Given the description of an element on the screen output the (x, y) to click on. 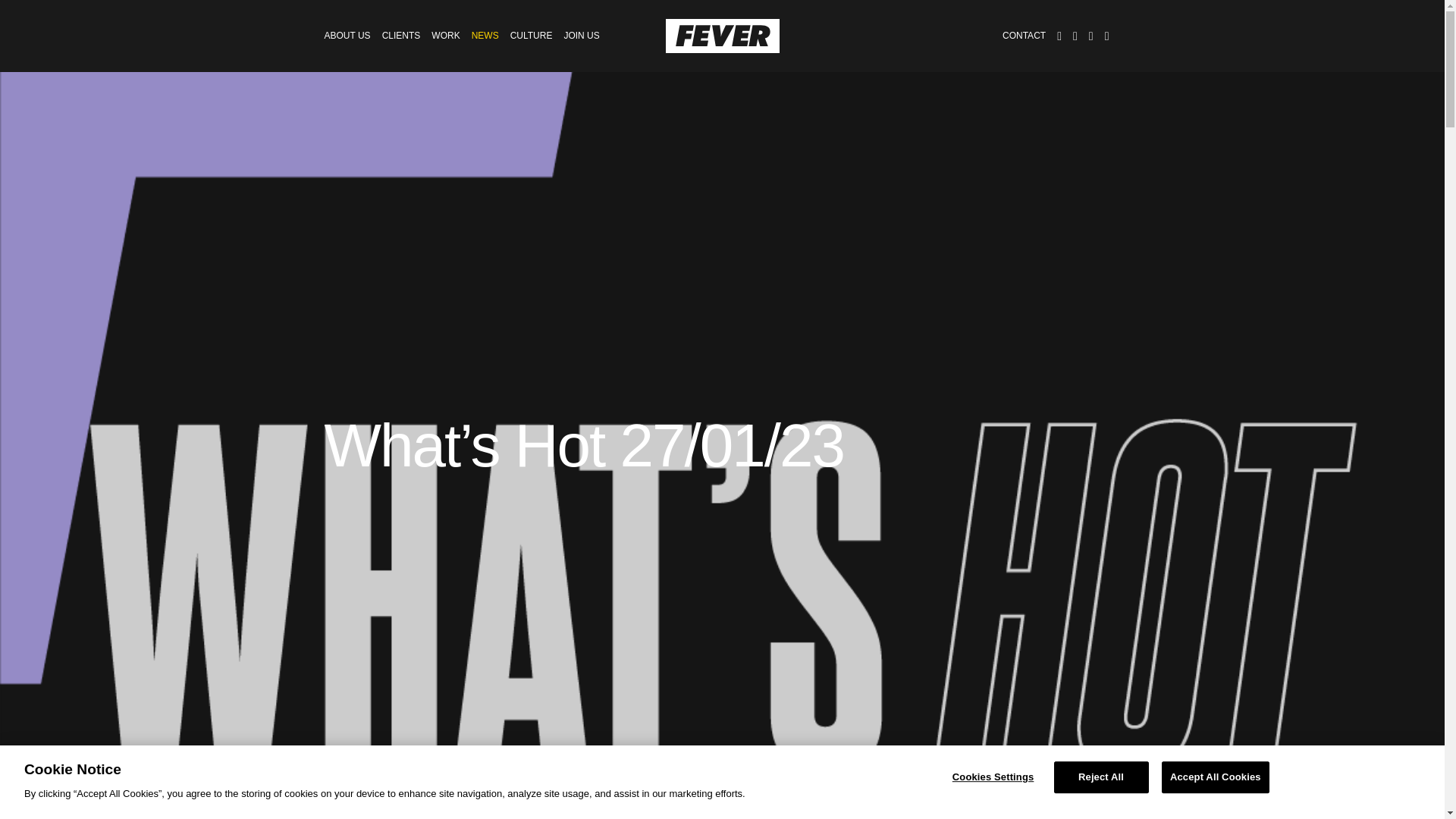
CONTACT (1024, 35)
CULTURE (532, 35)
WORK (445, 35)
ABOUT US (347, 35)
CLIENTS (400, 35)
NEWS (485, 35)
JOIN US (580, 35)
